Given the description of an element on the screen output the (x, y) to click on. 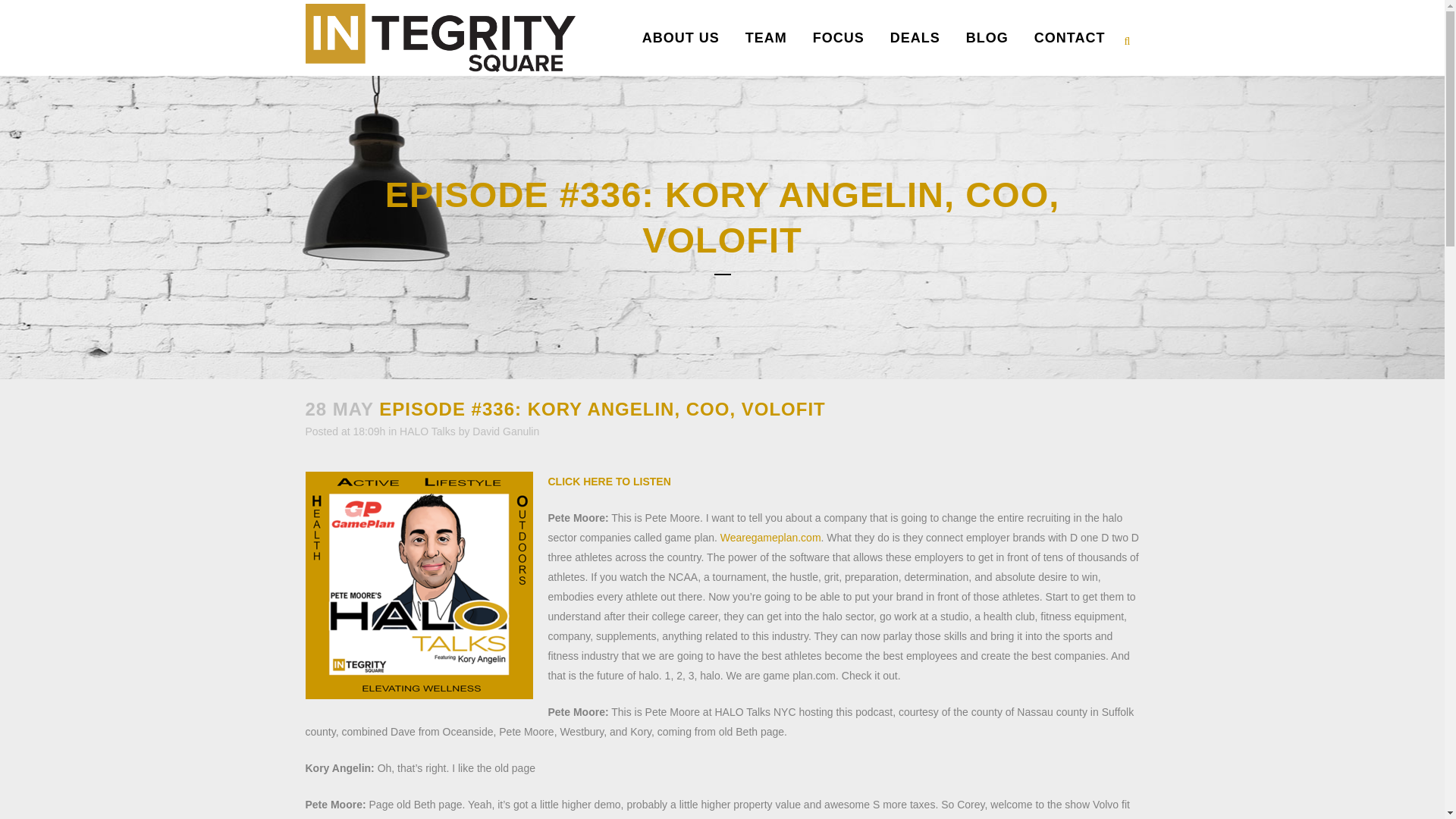
Wearegameplan.com (770, 537)
FOCUS (838, 38)
CONTACT (1070, 38)
ABOUT US (680, 38)
BLOG (987, 38)
TEAM (765, 38)
CLICK HERE TO LISTEN (608, 481)
David Ganulin (504, 431)
HALO Talks (426, 431)
DEALS (915, 38)
